Given the description of an element on the screen output the (x, y) to click on. 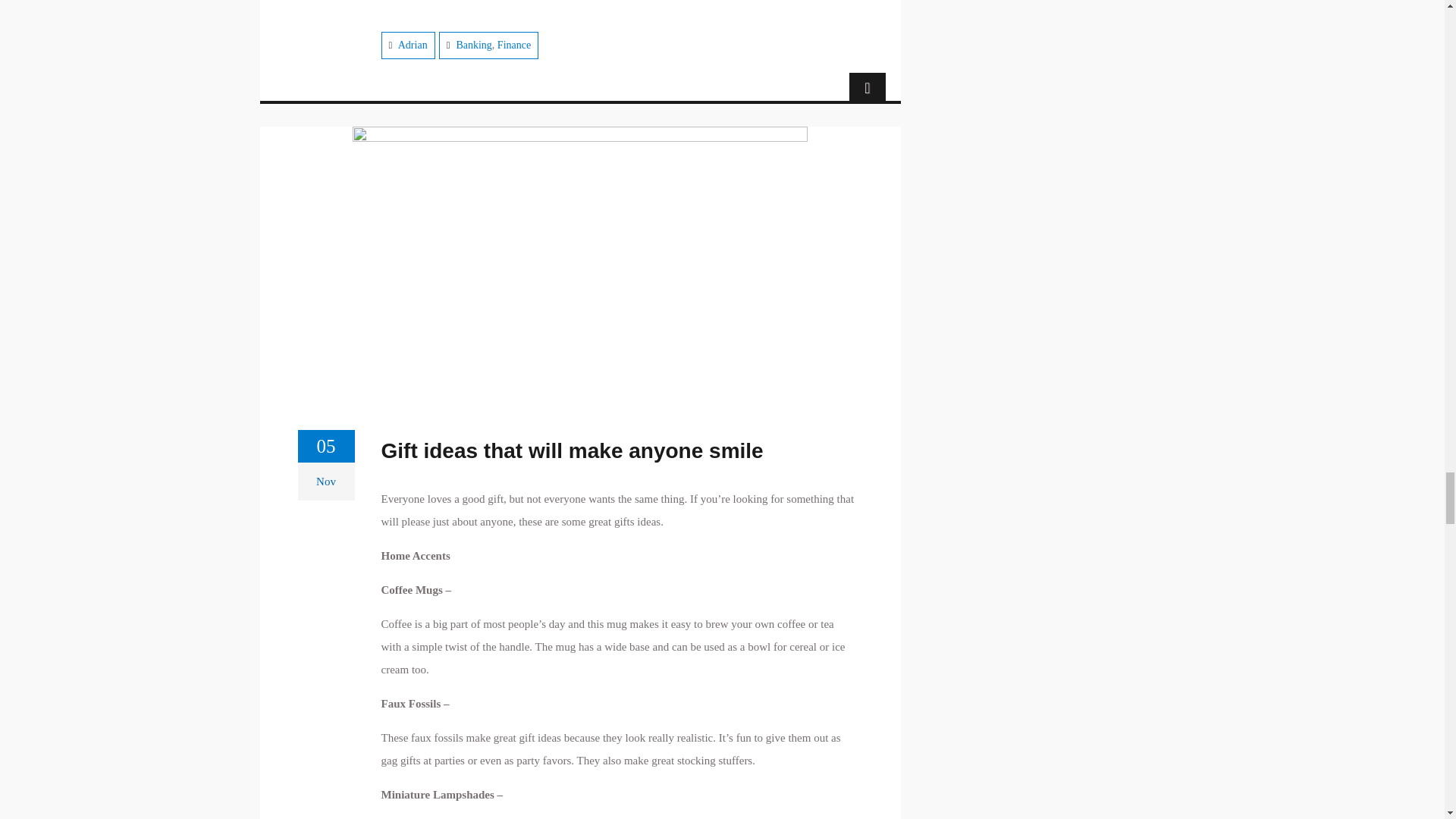
Finance (514, 44)
Adrian (412, 44)
Gift ideas that will make anyone smile (571, 450)
Banking (473, 44)
